Given the description of an element on the screen output the (x, y) to click on. 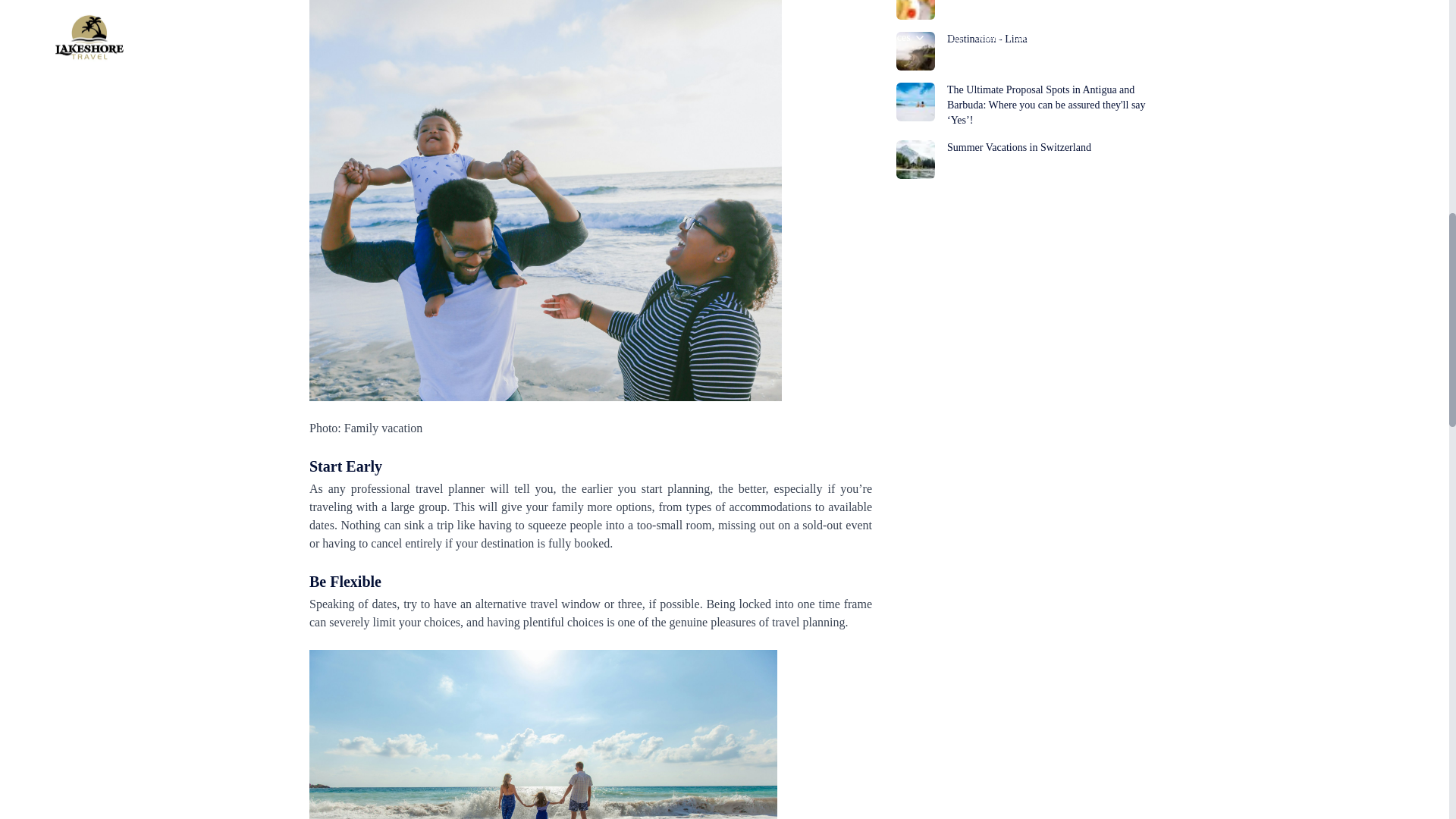
Summer Vacations in Switzerland (1021, 159)
Eat Like a Local In Antigua and Barbuda (1021, 9)
Destination - Lima (1021, 50)
